Given the description of an element on the screen output the (x, y) to click on. 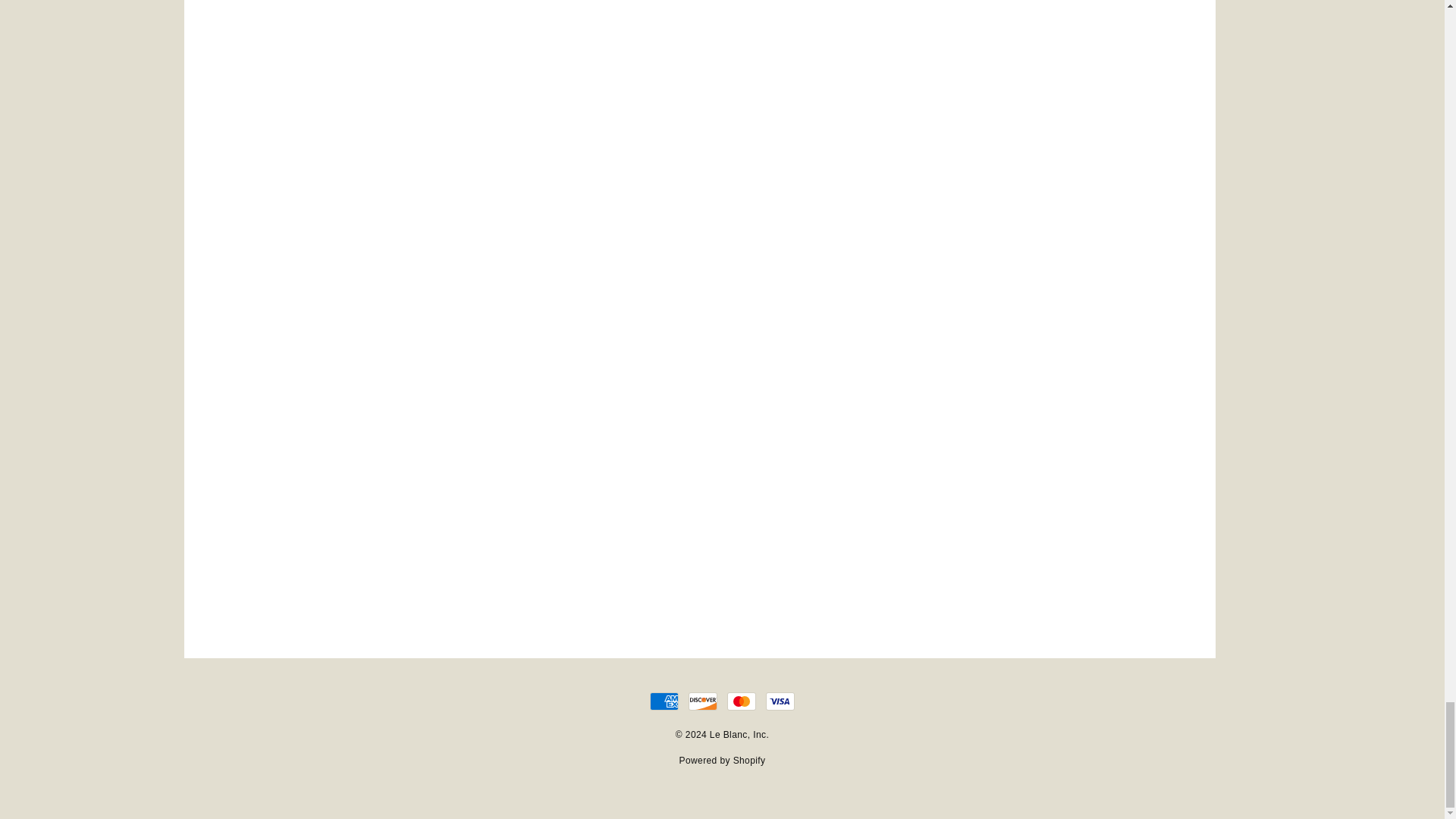
Mastercard (740, 701)
Discover (702, 701)
American Express (663, 701)
Visa (779, 701)
